Given the description of an element on the screen output the (x, y) to click on. 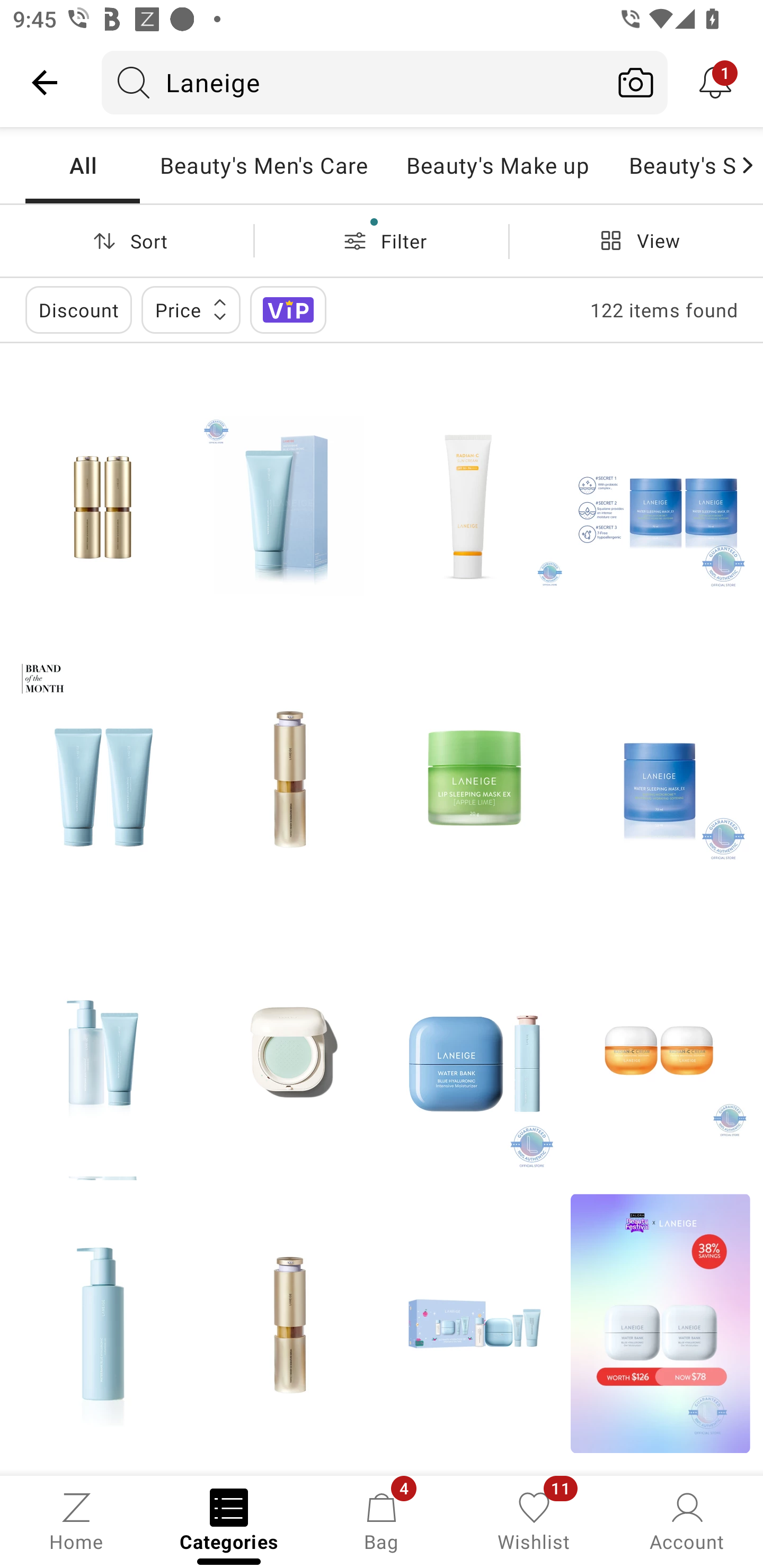
Navigate up (44, 82)
Laneige (352, 82)
Beauty's Men's Care (262, 165)
Beauty's Make up (497, 165)
Beauty's Skin Care (672, 165)
Sort (126, 240)
Filter (381, 240)
View (636, 240)
Discount (78, 309)
Price (190, 309)
Home (76, 1519)
Bag, 4 new notifications Bag (381, 1519)
Wishlist, 11 new notifications Wishlist (533, 1519)
Account (686, 1519)
